Given the description of an element on the screen output the (x, y) to click on. 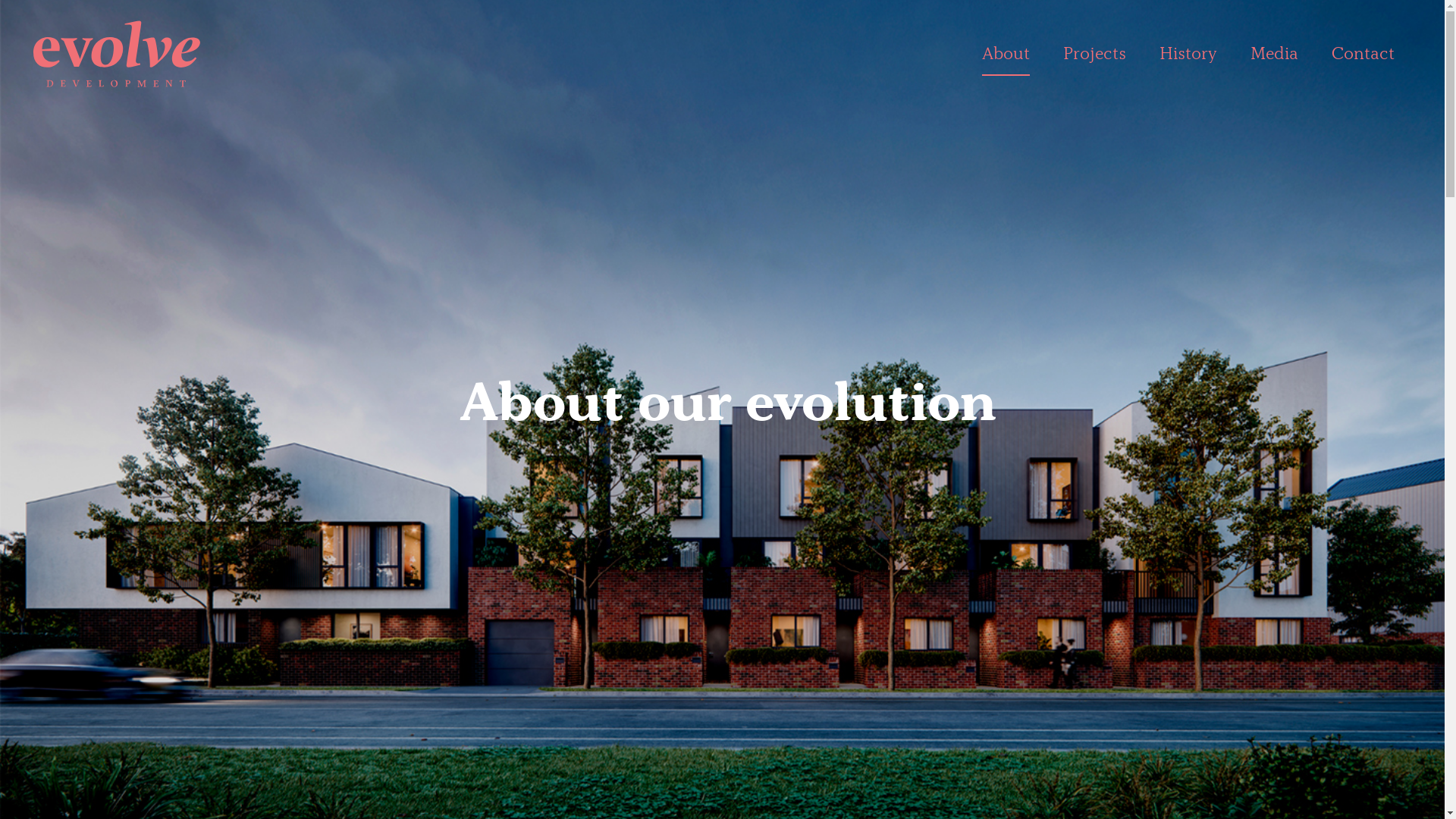
Projects Element type: text (1094, 53)
Contact Element type: text (1362, 53)
Media Element type: text (1273, 53)
About Element type: text (1005, 53)
History Element type: text (1187, 53)
